Given the description of an element on the screen output the (x, y) to click on. 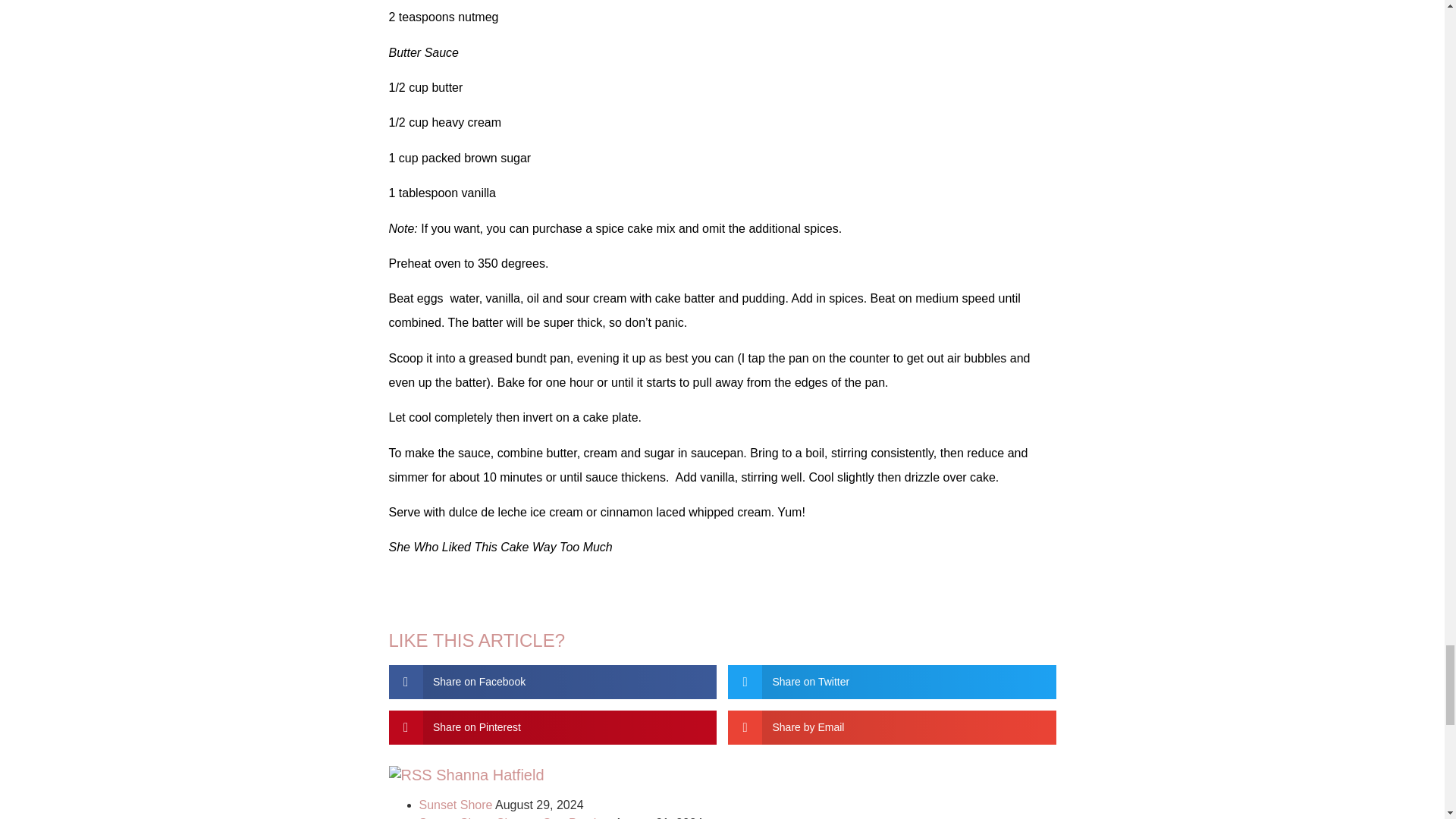
Sunset Shore Chapter One Preview (515, 817)
Shanna Hatfield (489, 774)
Sunset Shore (455, 804)
